Given the description of an element on the screen output the (x, y) to click on. 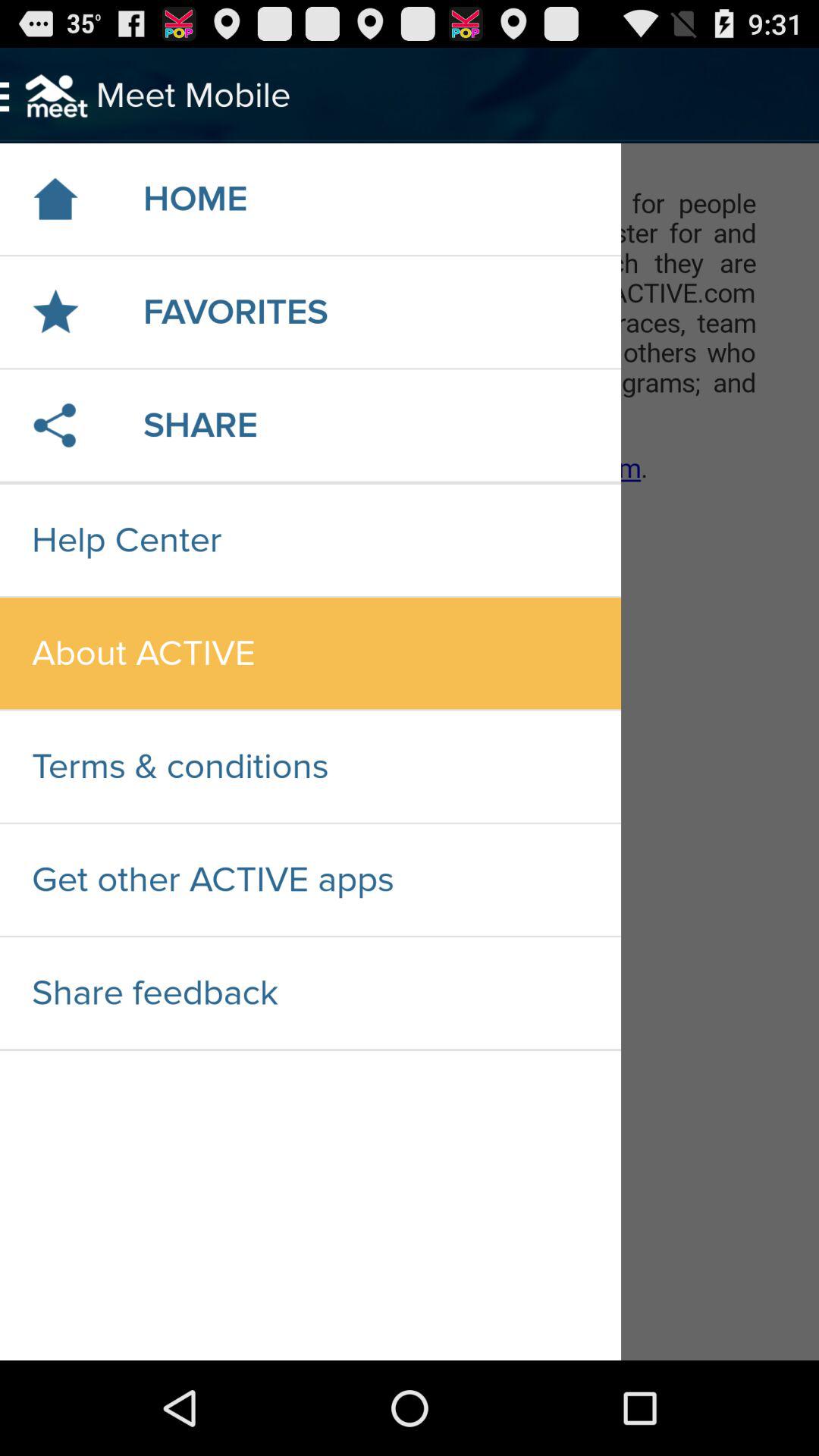
swipe to the help center icon (310, 540)
